Given the description of an element on the screen output the (x, y) to click on. 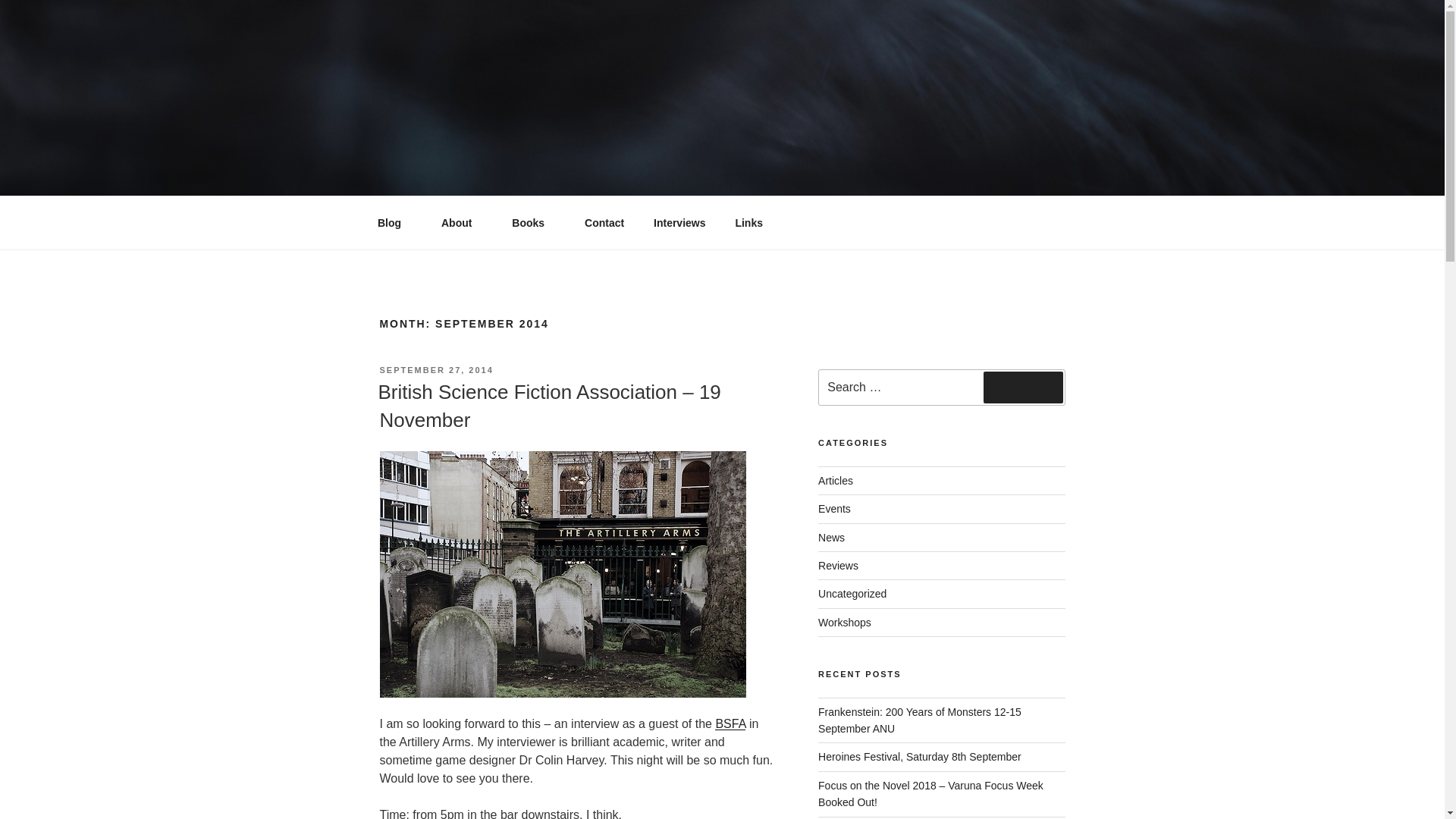
CLAIRE CORBETT (514, 224)
Search (1023, 387)
Interviews (679, 222)
SEPTEMBER 27, 2014 (435, 369)
Books (534, 222)
Links (749, 222)
Articles (835, 480)
Blog (394, 222)
BSFA (729, 723)
News (831, 537)
